Given the description of an element on the screen output the (x, y) to click on. 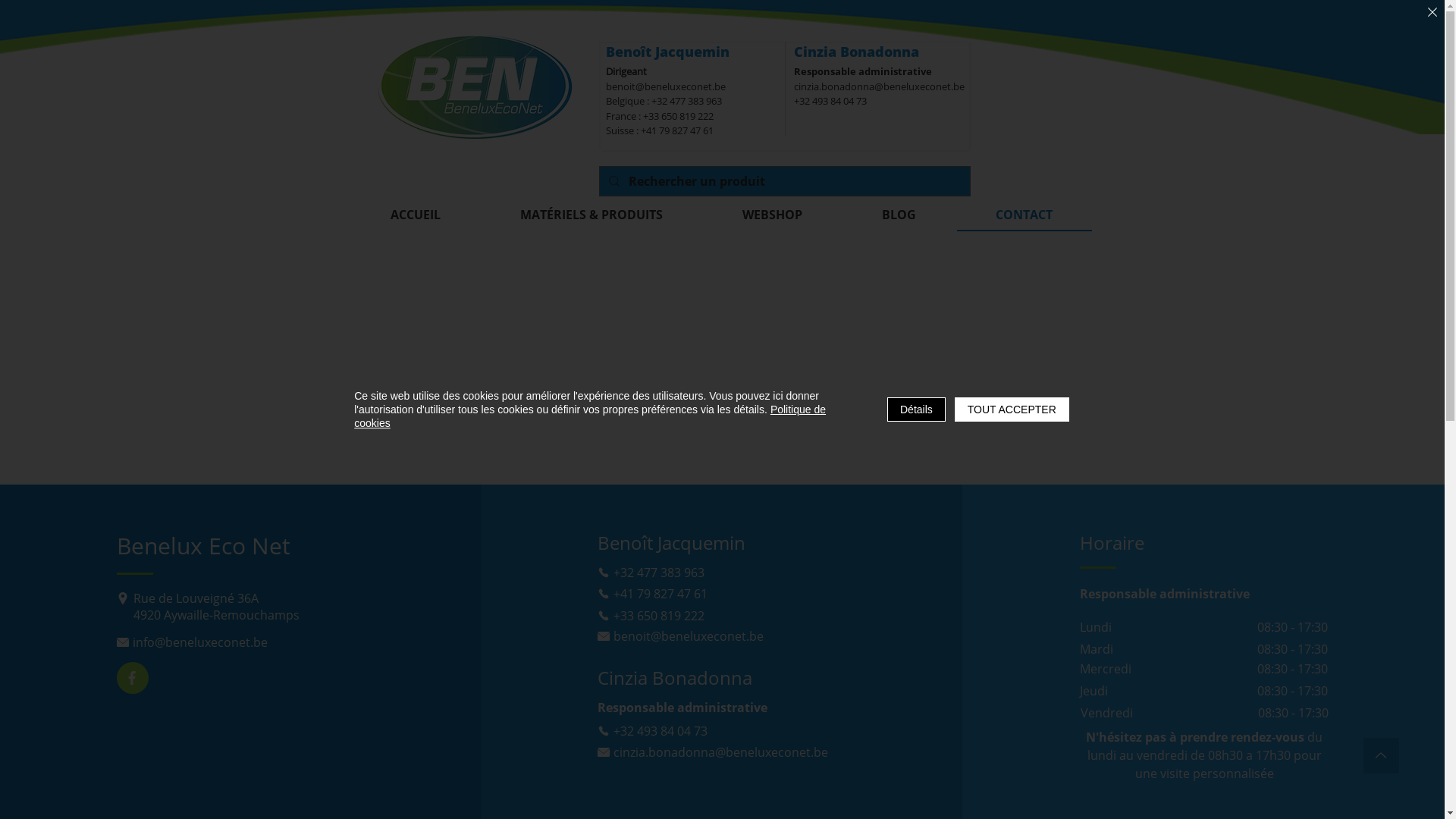
CONTACT Element type: text (1024, 214)
benoit@beneluxeconet.be Element type: text (664, 85)
Politique de cookies Element type: text (589, 416)
+33 650 819 222 Element type: text (702, 614)
+33 650 819 222 Element type: text (678, 115)
benoit@beneluxeconet.be Element type: text (702, 635)
TOUT ACCEPTER Element type: text (1011, 409)
cinzia.bonadonna@beneluxeconet.be Element type: text (714, 751)
+32 493 84 04 73 Element type: text (702, 730)
+41 79 827 47 61 Element type: text (702, 592)
+32 493 84 04 73 Element type: text (829, 100)
ACCUEIL Element type: text (415, 214)
cinzia.bonadonna@beneluxeconet.be Element type: text (878, 85)
+41 79 827 47 61 Element type: text (676, 130)
+32 477 383 963 Element type: text (702, 571)
BLOG Element type: text (899, 214)
WEBSHOP Element type: text (772, 214)
+32 477 383 963 Element type: text (685, 100)
Google Maps Element type: hover (721, 358)
info@beneluxeconet.be Element type: text (221, 641)
